Given the description of an element on the screen output the (x, y) to click on. 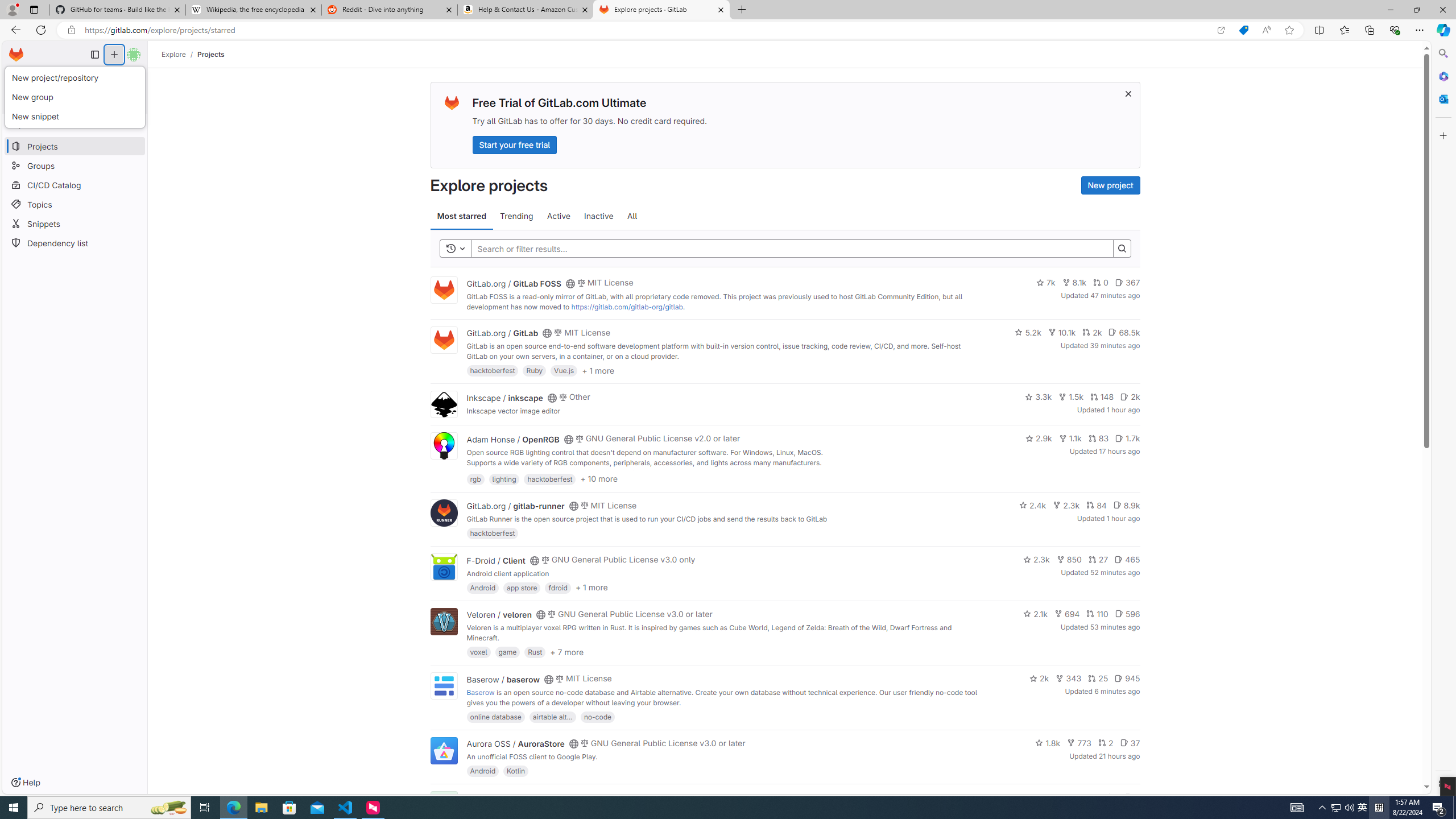
Ruby (533, 370)
New group (74, 97)
Inkscape / inkscape (504, 397)
Adam Honse / OpenRGB (512, 438)
